Given the description of an element on the screen output the (x, y) to click on. 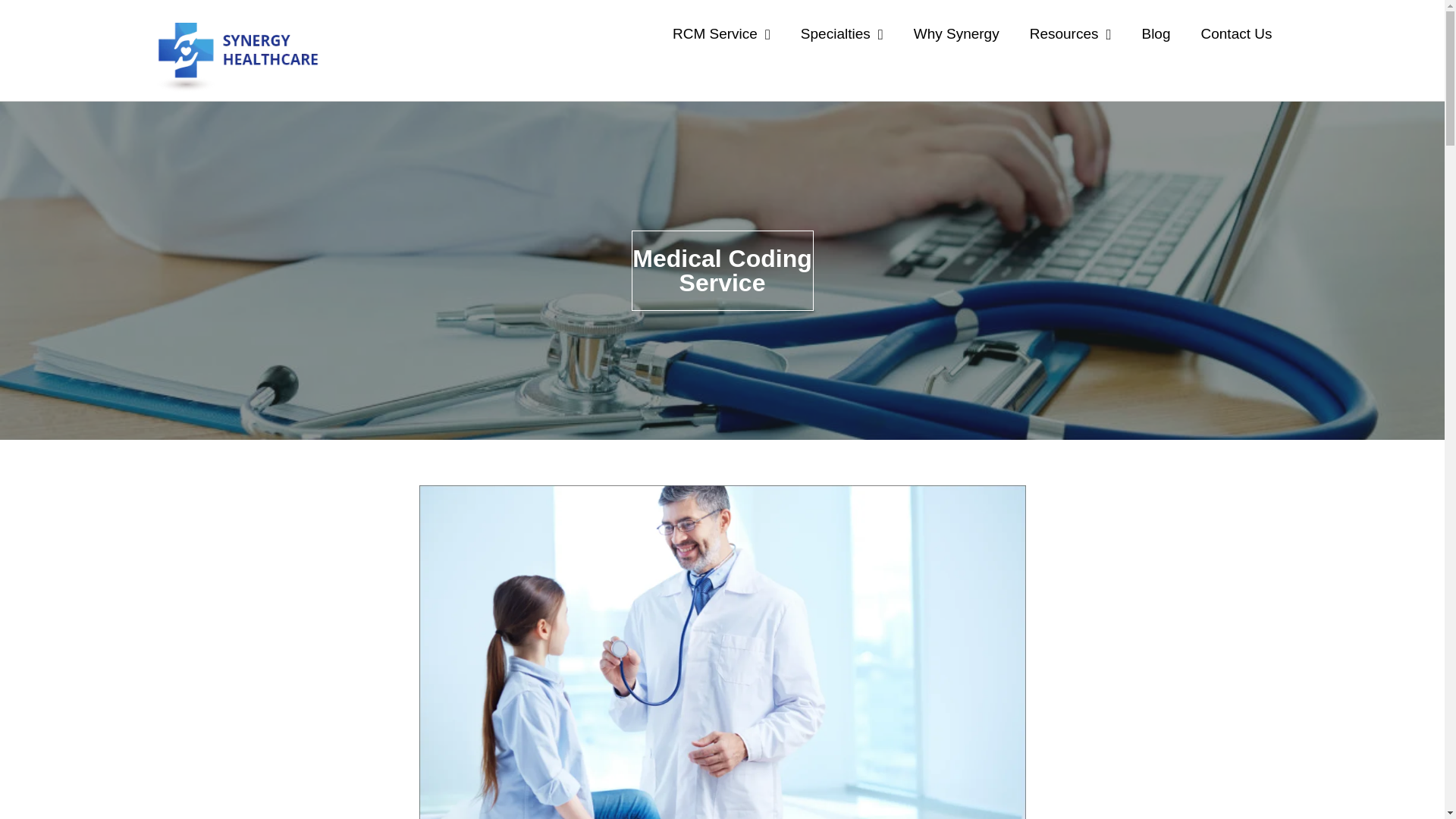
Specialties (842, 33)
Why Synergy (956, 33)
Resources (1070, 33)
Blog (1155, 33)
Contact Us (1236, 33)
RCM Service (722, 33)
